Given the description of an element on the screen output the (x, y) to click on. 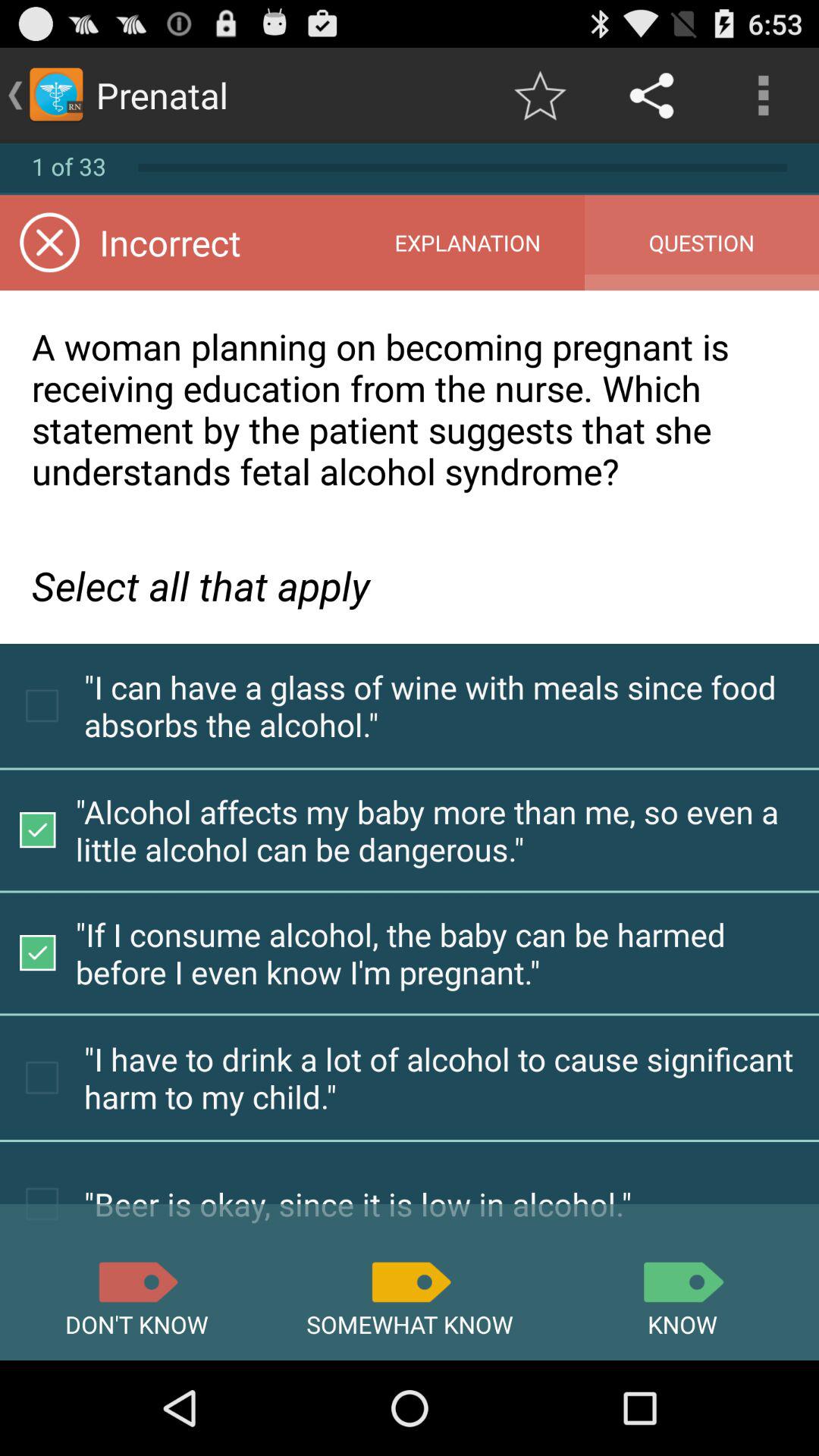
tap the icon above the a woman planning item (467, 242)
